Given the description of an element on the screen output the (x, y) to click on. 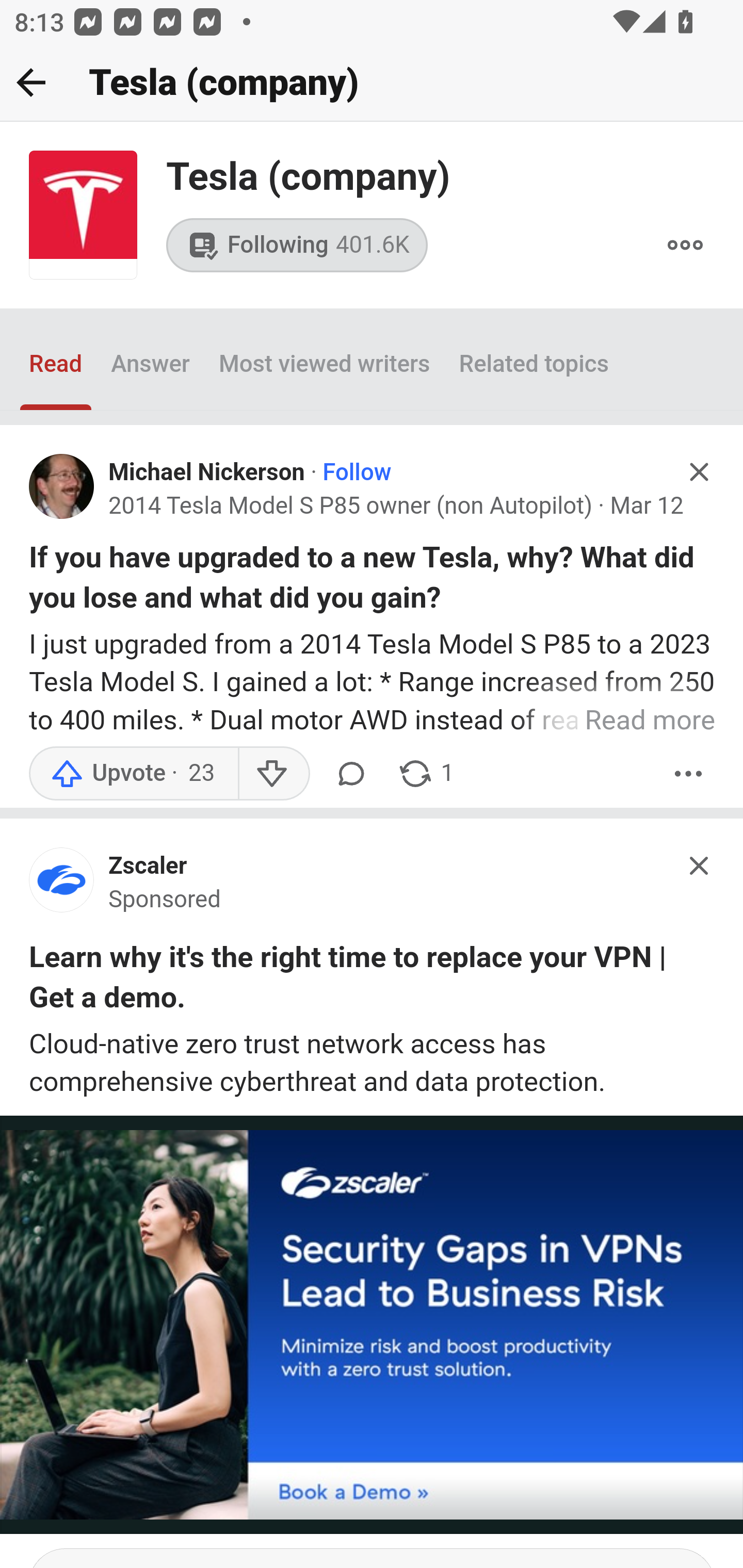
Back Tesla (company) (371, 82)
Back (30, 82)
Icon for Tesla (company) (82, 215)
More (684, 245)
Following 401.6K (296, 244)
Read (55, 364)
Answer (150, 364)
Most viewed writers (323, 364)
Related topics (534, 364)
Hide (699, 471)
Profile photo for Michael Nickerson (61, 486)
Michael Nickerson (206, 471)
Follow (356, 471)
Mar 12 (646, 505)
Upvote (133, 774)
Downvote (273, 774)
Comment (350, 774)
1 share (425, 774)
More (688, 774)
Hide (699, 865)
main-qimg-be65f83ac303949ec332d46a3582d112 (61, 884)
Zscaler (147, 865)
Sponsored (165, 899)
